Given the description of an element on the screen output the (x, y) to click on. 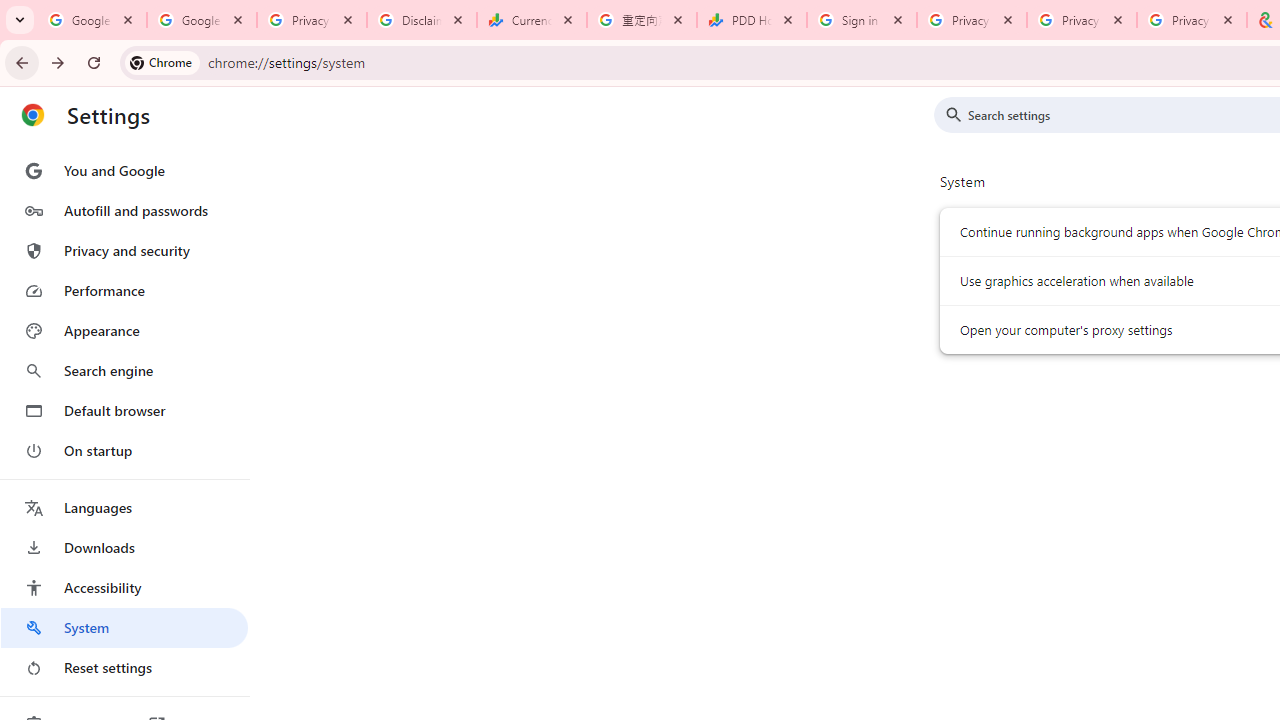
Reset settings (124, 668)
Privacy and security (124, 250)
Currencies - Google Finance (532, 20)
Performance (124, 290)
Privacy Checkup (1191, 20)
Languages (124, 507)
You and Google (124, 170)
Appearance (124, 331)
